Given the description of an element on the screen output the (x, y) to click on. 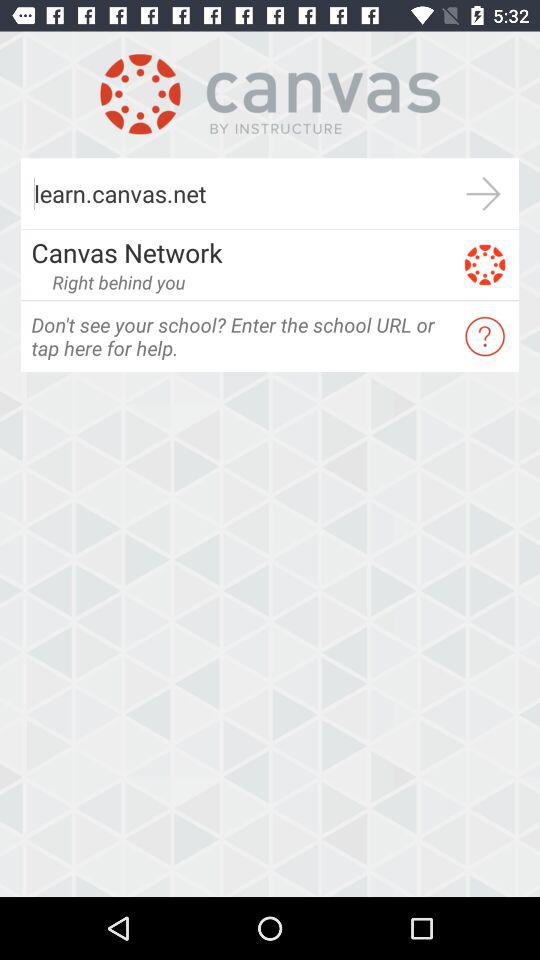
swipe to canvas network item (240, 252)
